Given the description of an element on the screen output the (x, y) to click on. 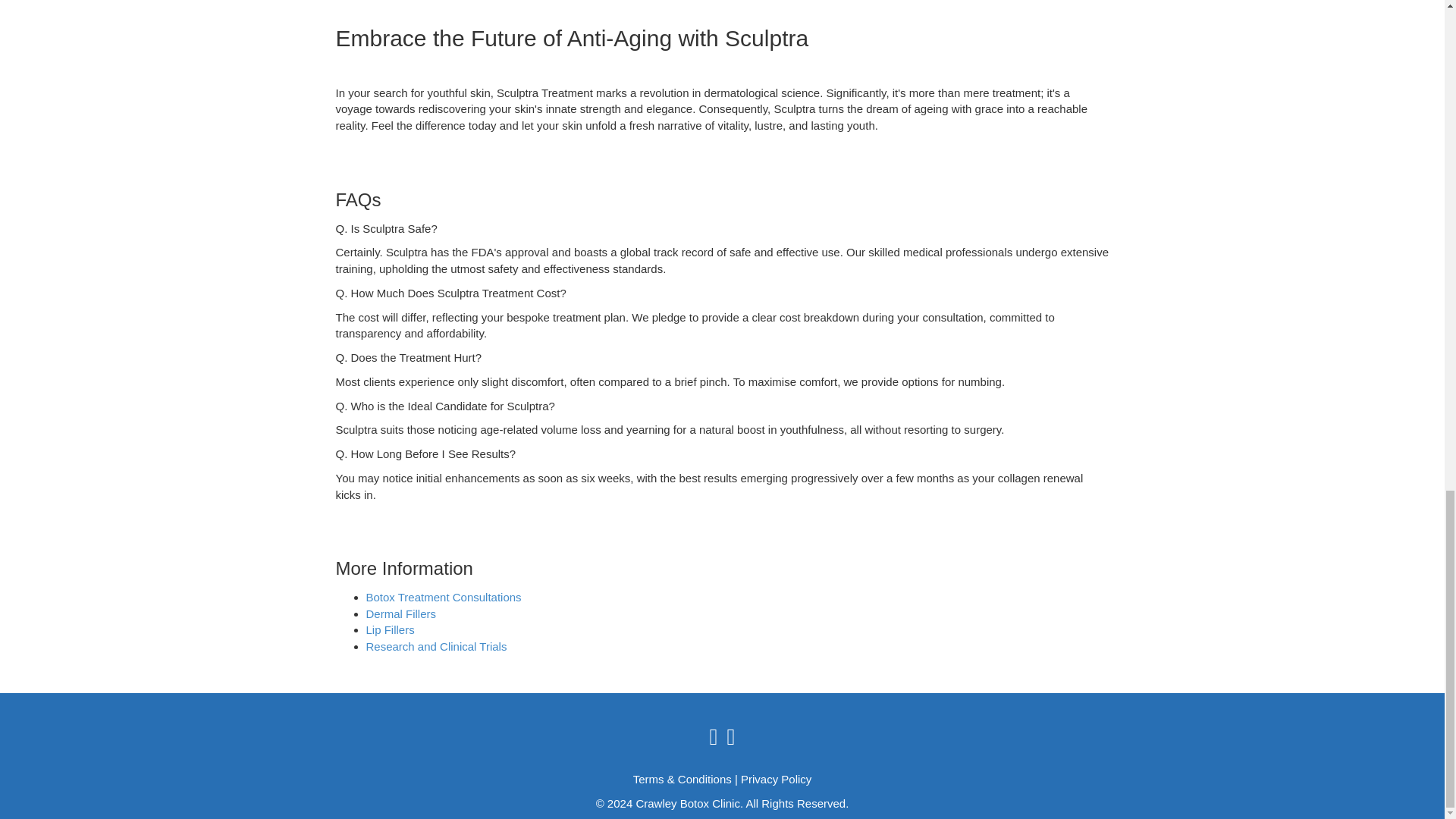
Research and Clinical Trials (435, 645)
Lip Fillers (389, 629)
Dermal Fillers (400, 613)
Privacy Policy (775, 779)
Botox Treatment Consultations (443, 596)
